Given the description of an element on the screen output the (x, y) to click on. 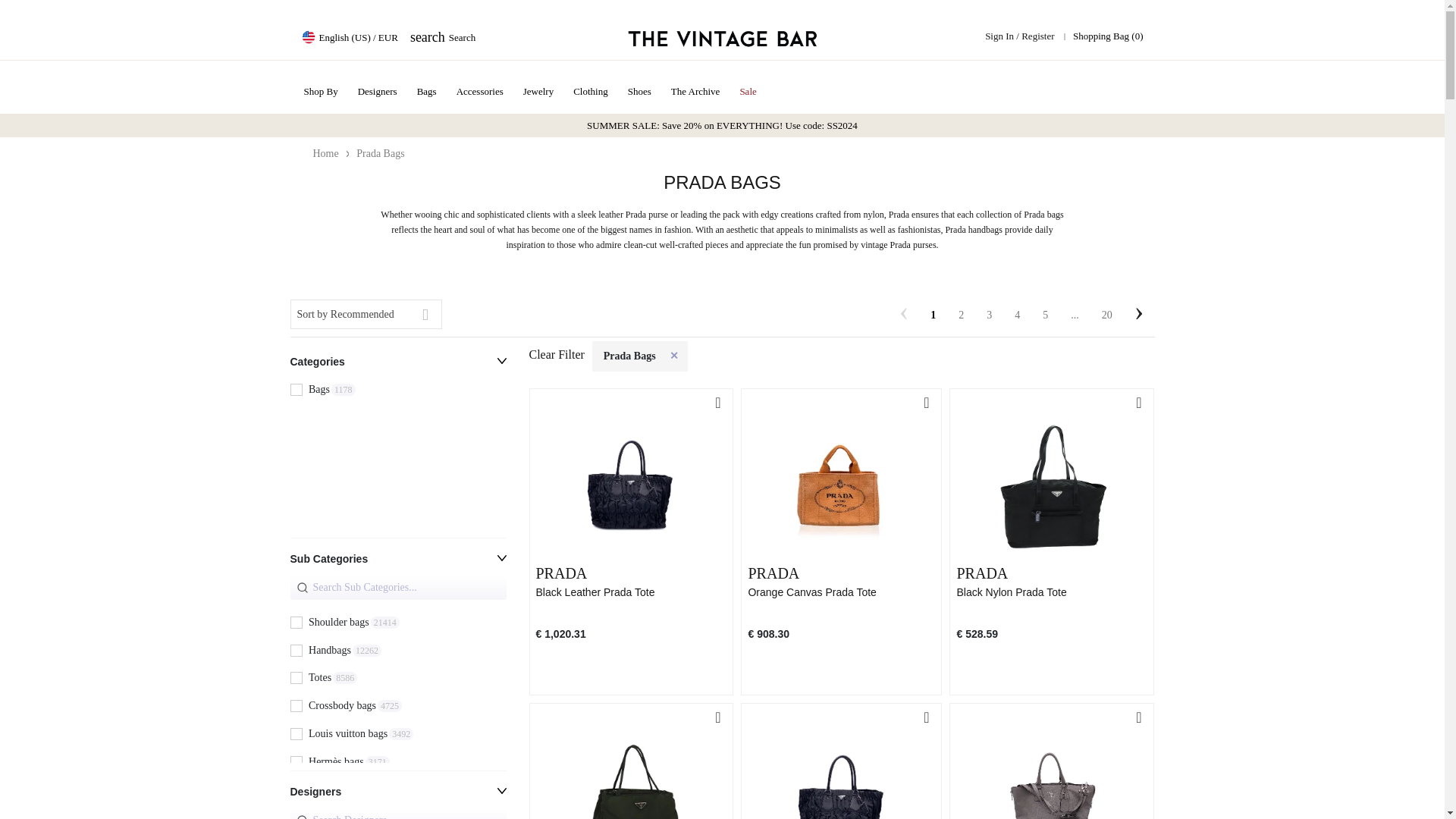
Designers (397, 795)
totes (443, 37)
handbags (295, 678)
Black Nylon Prada Tote (397, 392)
Sub Categories (295, 650)
burberry-bags (1051, 591)
clutches (397, 654)
crossbody-bags (295, 815)
Designers (295, 789)
hermes-bags (295, 706)
Orange Canvas Prada Tote (377, 91)
shoulder-bags (397, 453)
